Given the description of an element on the screen output the (x, y) to click on. 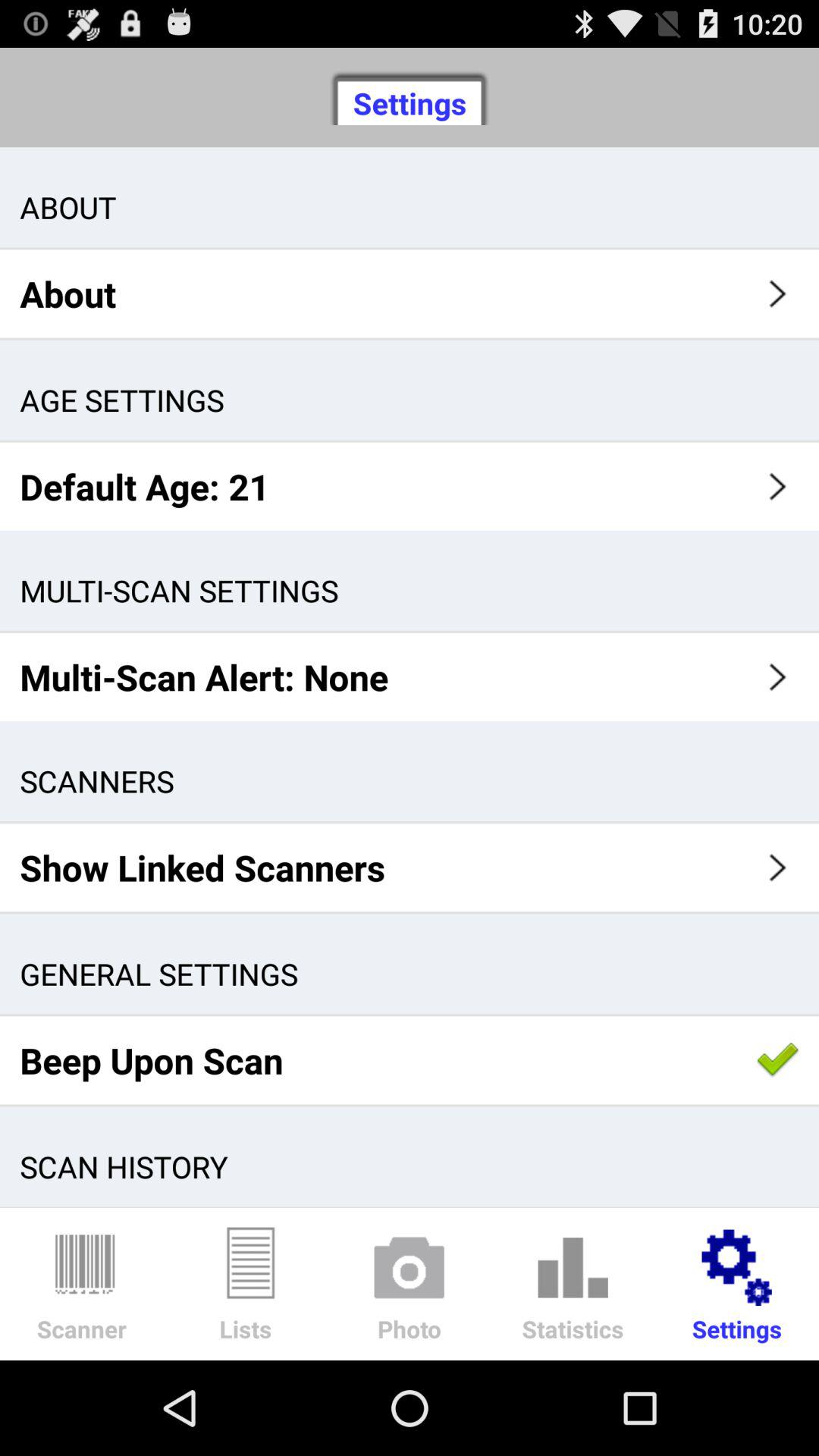
flip until beep upon scan (409, 1060)
